Given the description of an element on the screen output the (x, y) to click on. 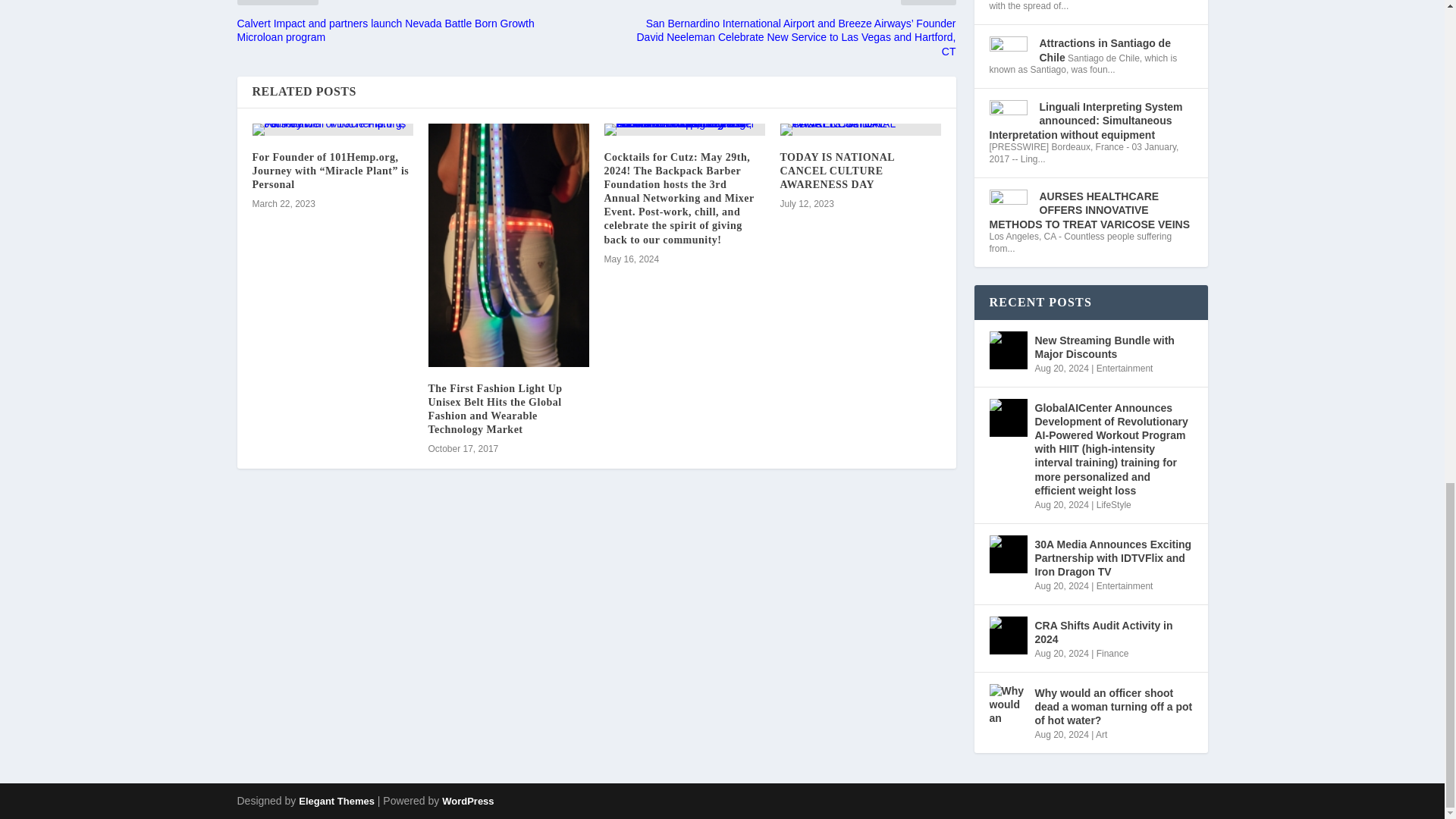
TODAY IS NATIONAL CANCEL CULTURE AWARENESS DAY (859, 129)
TODAY IS NATIONAL CANCEL CULTURE AWARENESS DAY (835, 170)
New Streaming Bundle with Major Discounts (1007, 350)
